Given the description of an element on the screen output the (x, y) to click on. 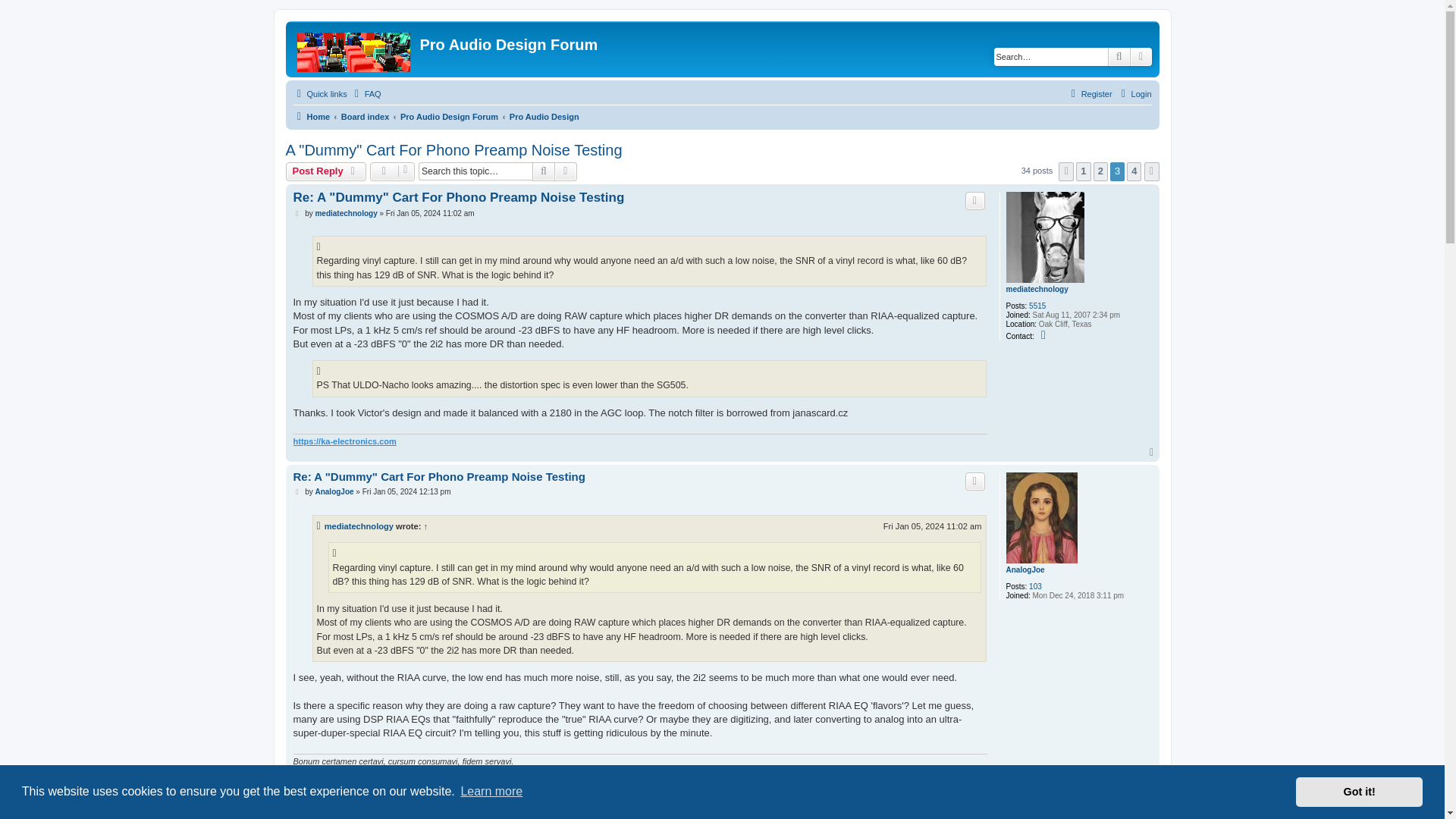
Search (543, 171)
Pro Audio Design (544, 116)
Topic tools (391, 171)
Reply with quote (975, 200)
Pro Audio Design (544, 116)
Advanced search (1141, 56)
Home (311, 116)
Home (354, 49)
Register (1089, 94)
Post a reply (325, 171)
Board index (365, 116)
Learn more (491, 791)
Advanced search (565, 171)
Search (1119, 56)
Search for keywords (1051, 56)
